Given the description of an element on the screen output the (x, y) to click on. 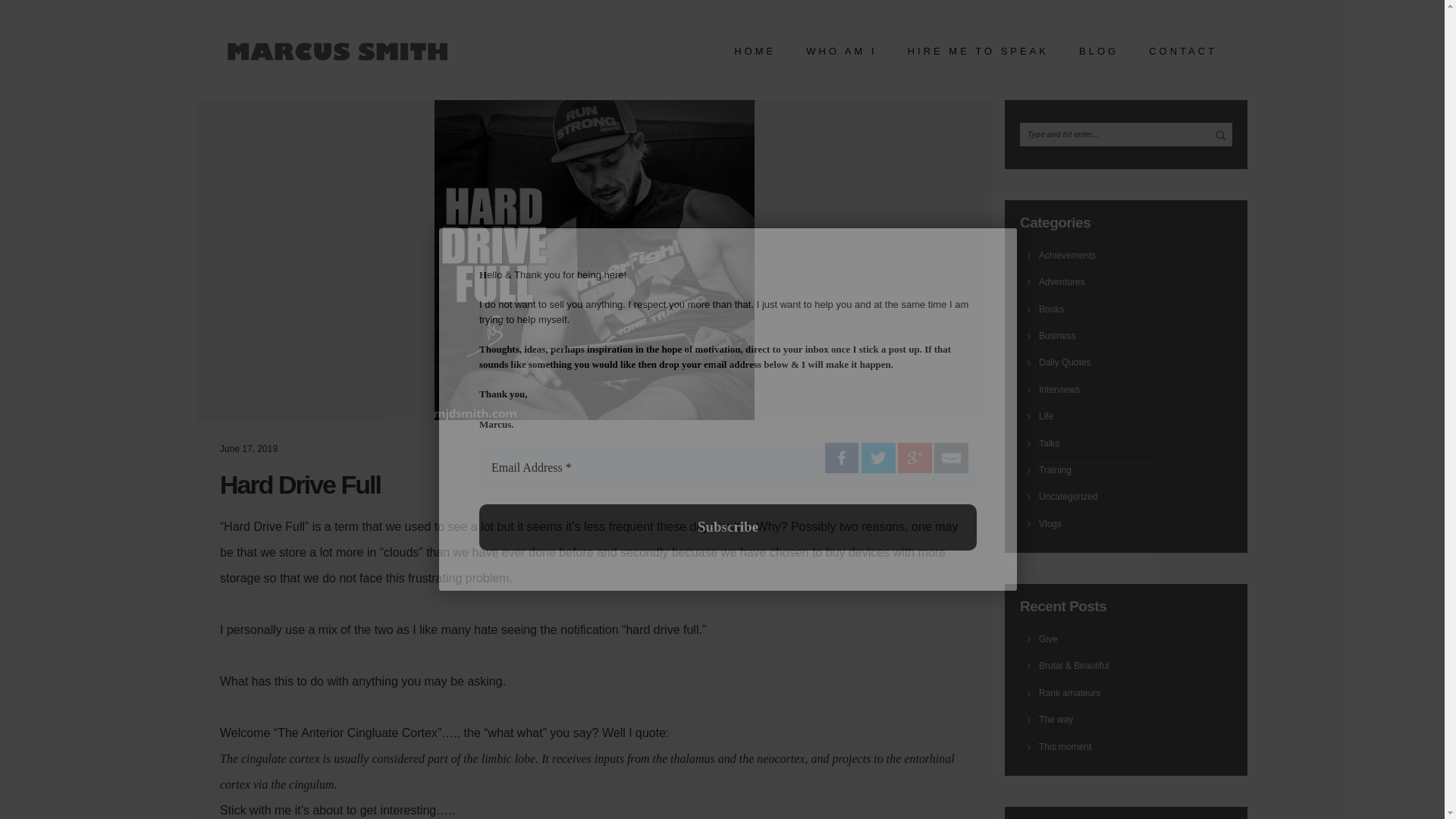
Blog (1098, 54)
Rank amateurs (1135, 692)
Training (1135, 470)
HOME (754, 54)
Interviews (1135, 389)
Life (1135, 416)
Give (1135, 638)
The way (1135, 719)
CONTACT (1182, 54)
Vlogs (1135, 523)
Who am I (841, 54)
Daily Quotes (1135, 362)
This moment (1135, 747)
Subscribe (727, 527)
Contact (1182, 54)
